Given the description of an element on the screen output the (x, y) to click on. 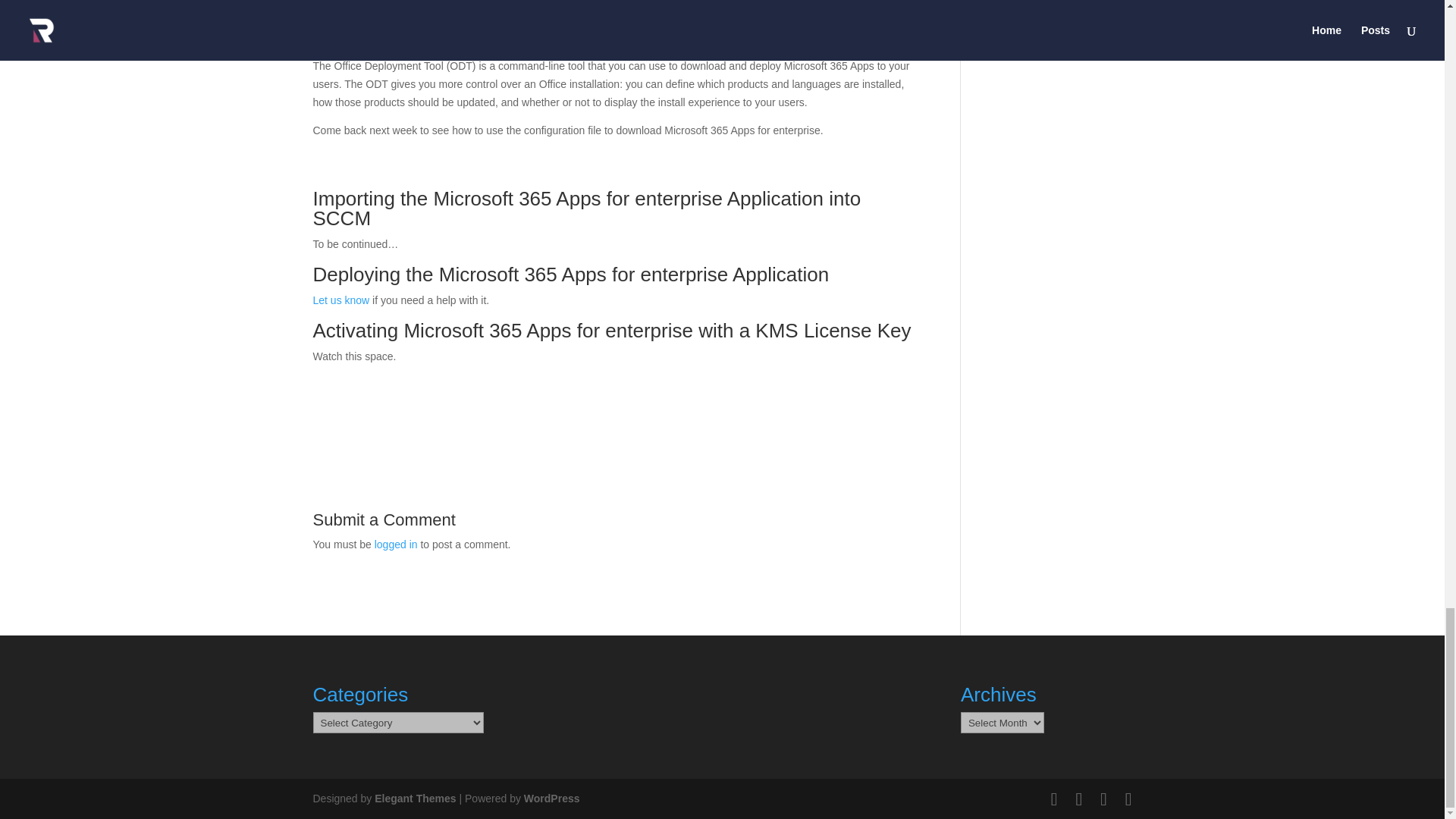
Let us know (341, 300)
Premium WordPress Themes (414, 798)
logged in (395, 544)
